Given the description of an element on the screen output the (x, y) to click on. 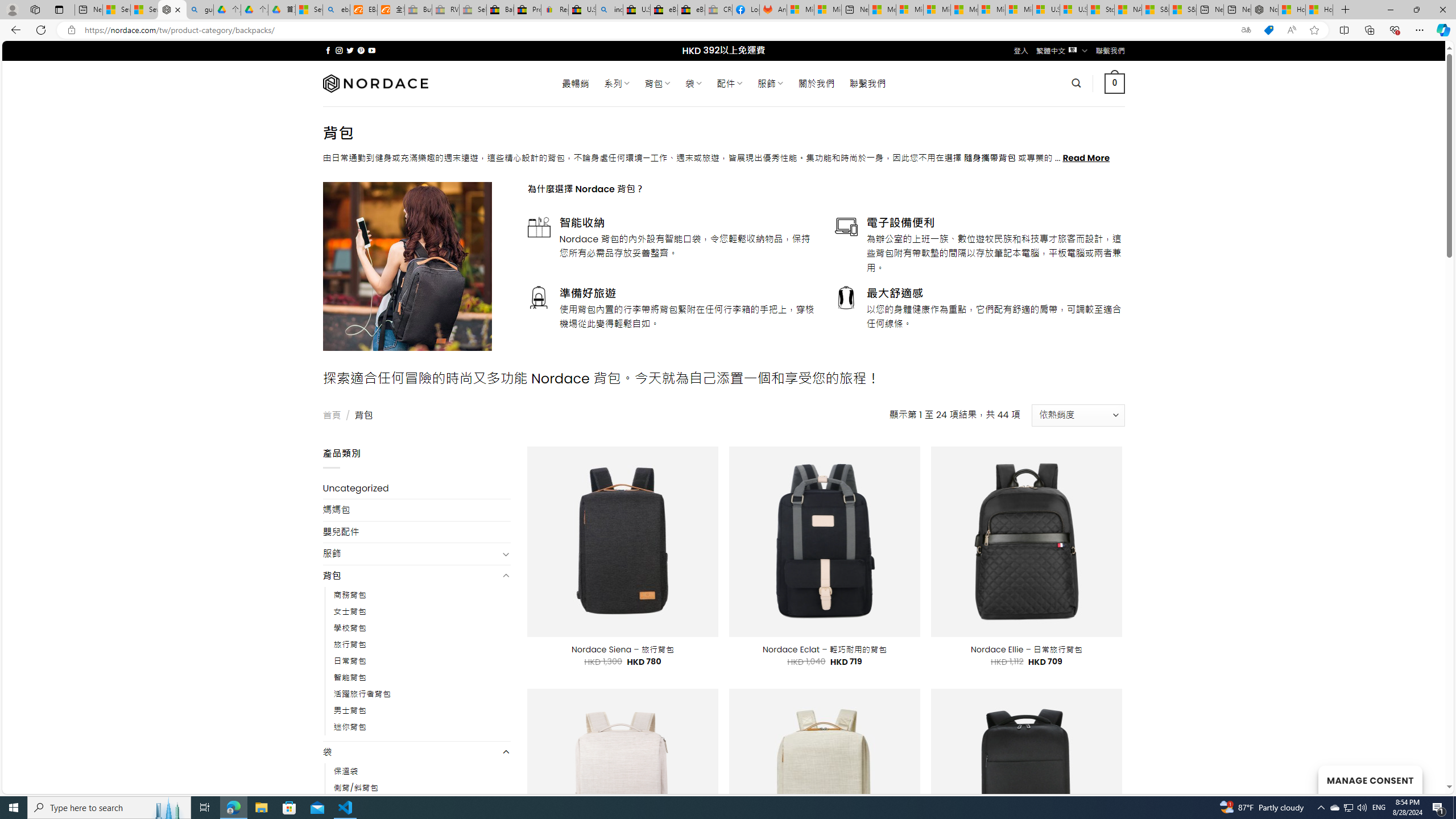
U.S. State Privacy Disclosures - eBay Inc. (636, 9)
guge yunpan - Search (200, 9)
Follow on YouTube (371, 50)
Uncategorized (416, 488)
S&P 500, Nasdaq end lower, weighed by Nvidia dip | Watch (1182, 9)
